Given the description of an element on the screen output the (x, y) to click on. 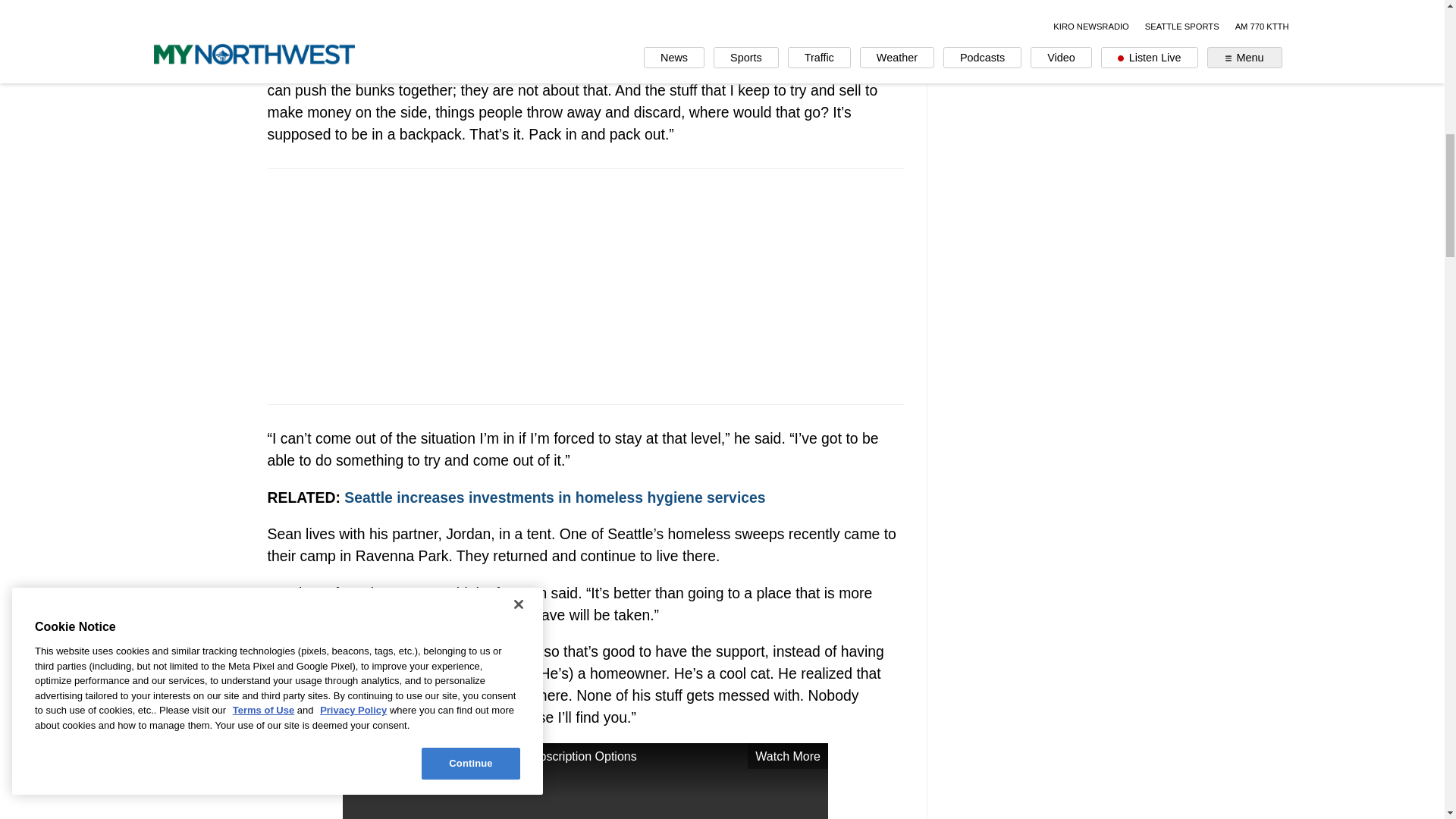
3rd party ad content (584, 286)
